Given the description of an element on the screen output the (x, y) to click on. 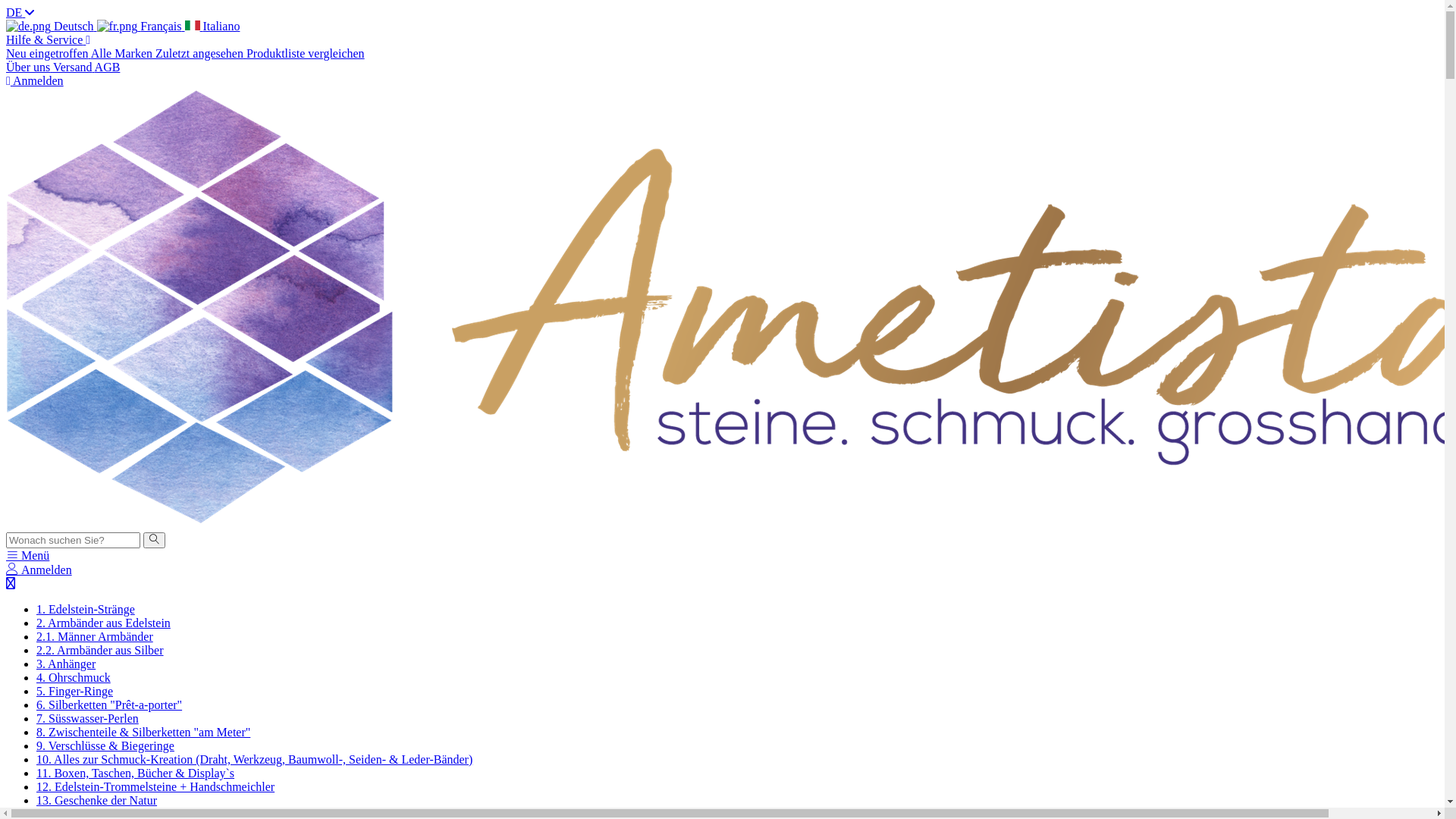
Produktliste vergleichen Element type: text (305, 53)
AGB Element type: text (107, 66)
Anmelden Element type: text (39, 569)
13. Geschenke der Natur Element type: text (96, 799)
Deutsch Element type: text (51, 25)
8. Zwischenteile & Silberketten "am Meter" Element type: text (143, 731)
Zuletzt angesehen Element type: text (200, 53)
DE Element type: text (20, 12)
5. Finger-Ringe Element type: text (74, 690)
Suchen Element type: hover (154, 540)
Versand Element type: text (73, 66)
Alle Marken Element type: text (123, 53)
Hilfe & Service Element type: text (48, 39)
Italiano Element type: text (212, 25)
12. Edelstein-Trommelsteine + Handschmeichler Element type: text (155, 786)
Neu eingetroffen Element type: text (48, 53)
4. Ohrschmuck Element type: text (73, 677)
Anmelden Element type: text (34, 80)
